Given the description of an element on the screen output the (x, y) to click on. 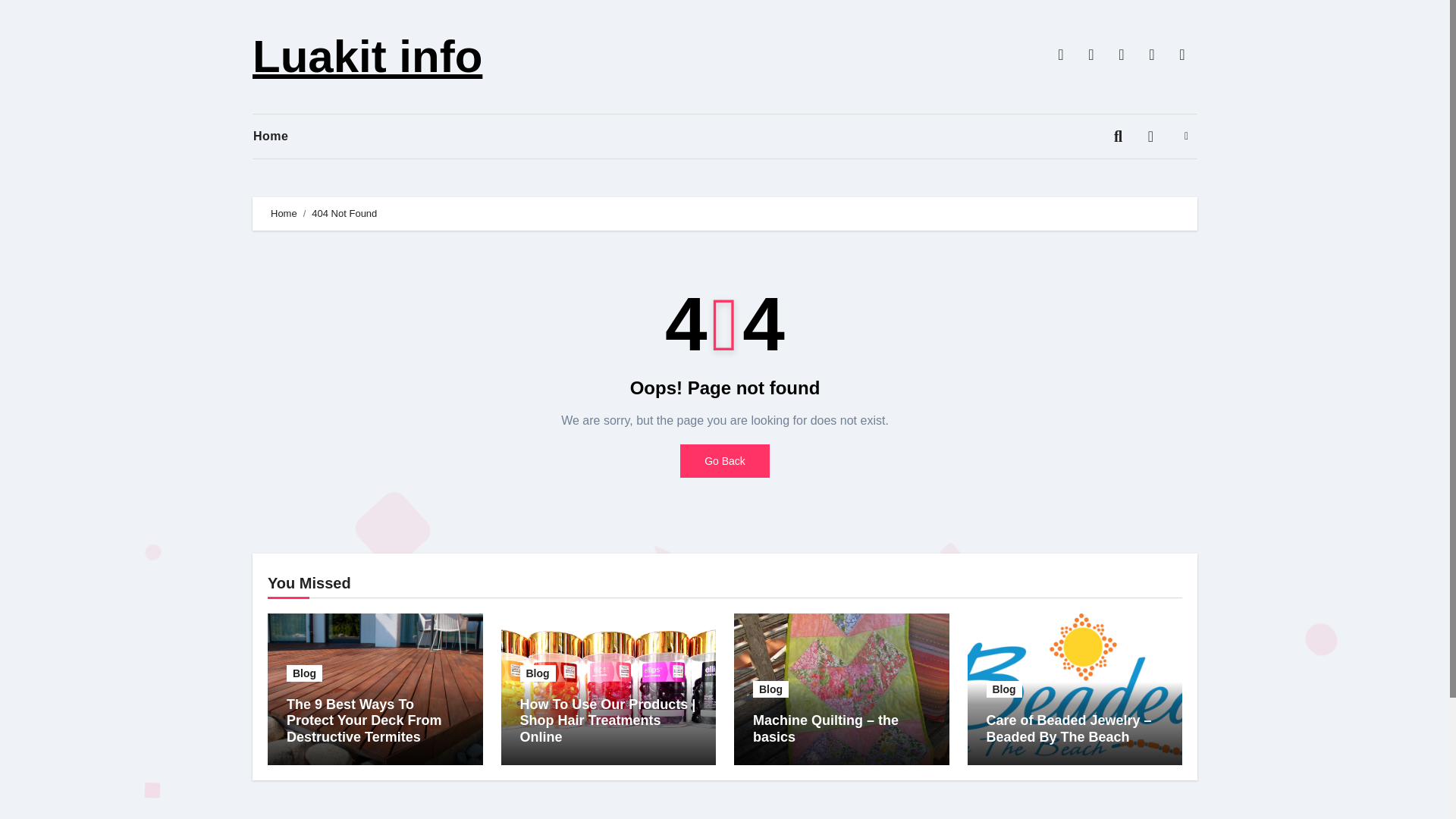
Luakit info (366, 56)
Blog (303, 673)
Home (282, 136)
Blog (1003, 688)
Home (283, 213)
Home (282, 136)
Blog (770, 688)
Go Back (724, 460)
